Given the description of an element on the screen output the (x, y) to click on. 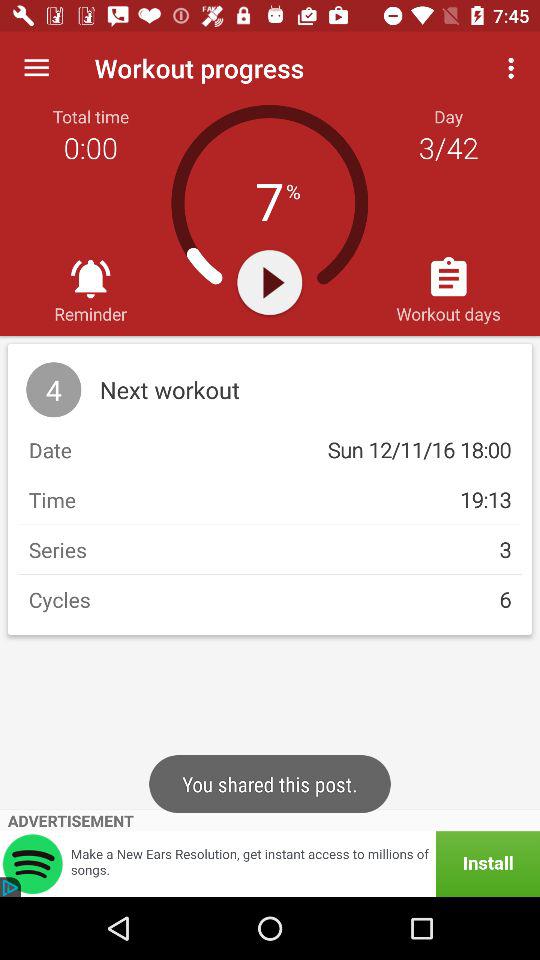
start timer (269, 282)
